Given the description of an element on the screen output the (x, y) to click on. 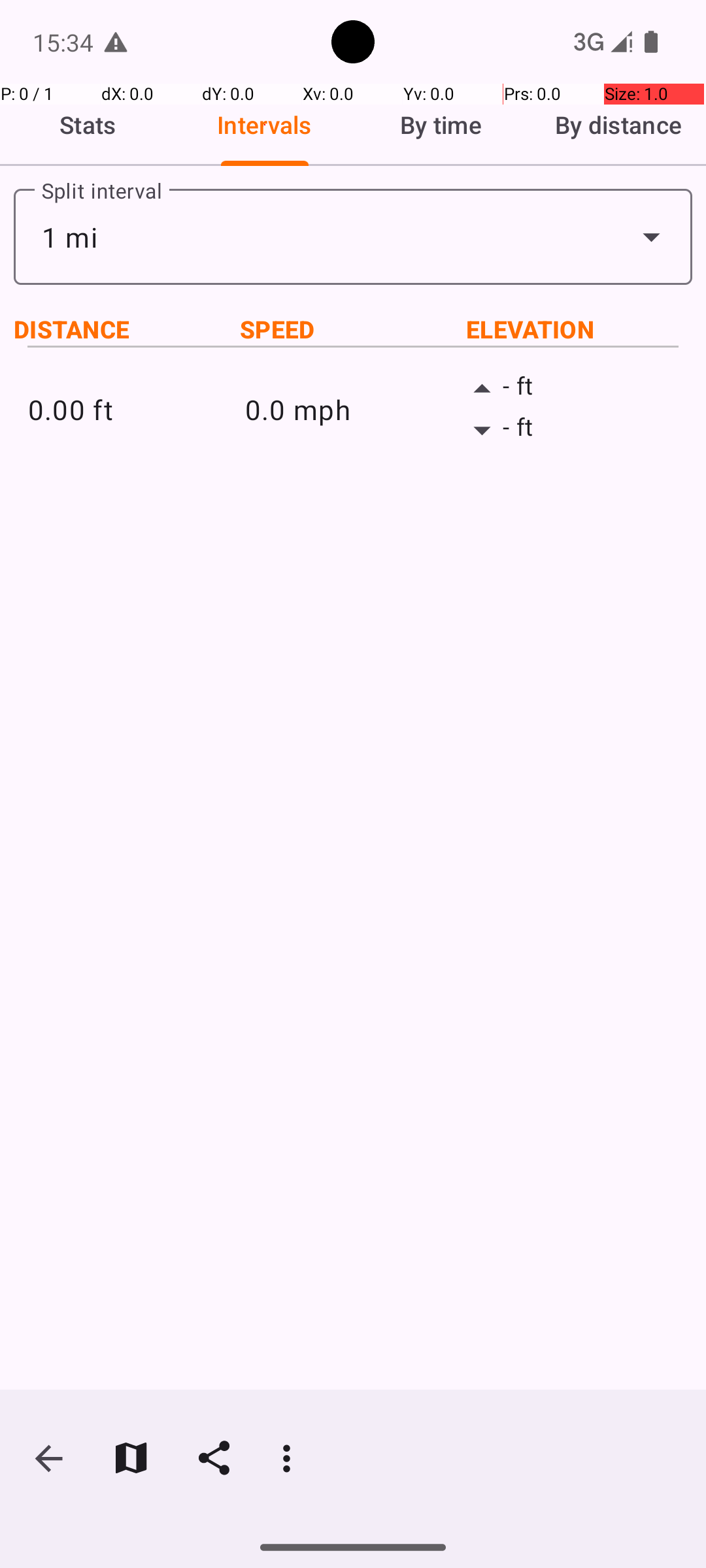
Stats Element type: android.widget.LinearLayout (88, 124)
Intervals Element type: android.widget.LinearLayout (264, 124)
By time Element type: android.widget.LinearLayout (441, 124)
By distance Element type: android.widget.LinearLayout (617, 124)
Show on map Element type: android.widget.Button (130, 1458)
1 mi Element type: android.widget.Spinner (352, 236)
Show dropdown menu Element type: android.widget.ImageButton (650, 236)
DISTANCE Element type: android.widget.TextView (126, 328)
SPEED Element type: android.widget.TextView (352, 328)
ELEVATION Element type: android.widget.TextView (579, 328)
0.00 ft Element type: android.widget.TextView (135, 408)
0.0 mph Element type: android.widget.TextView (352, 408)
- ft Element type: android.widget.TextView (569, 388)
